Given the description of an element on the screen output the (x, y) to click on. 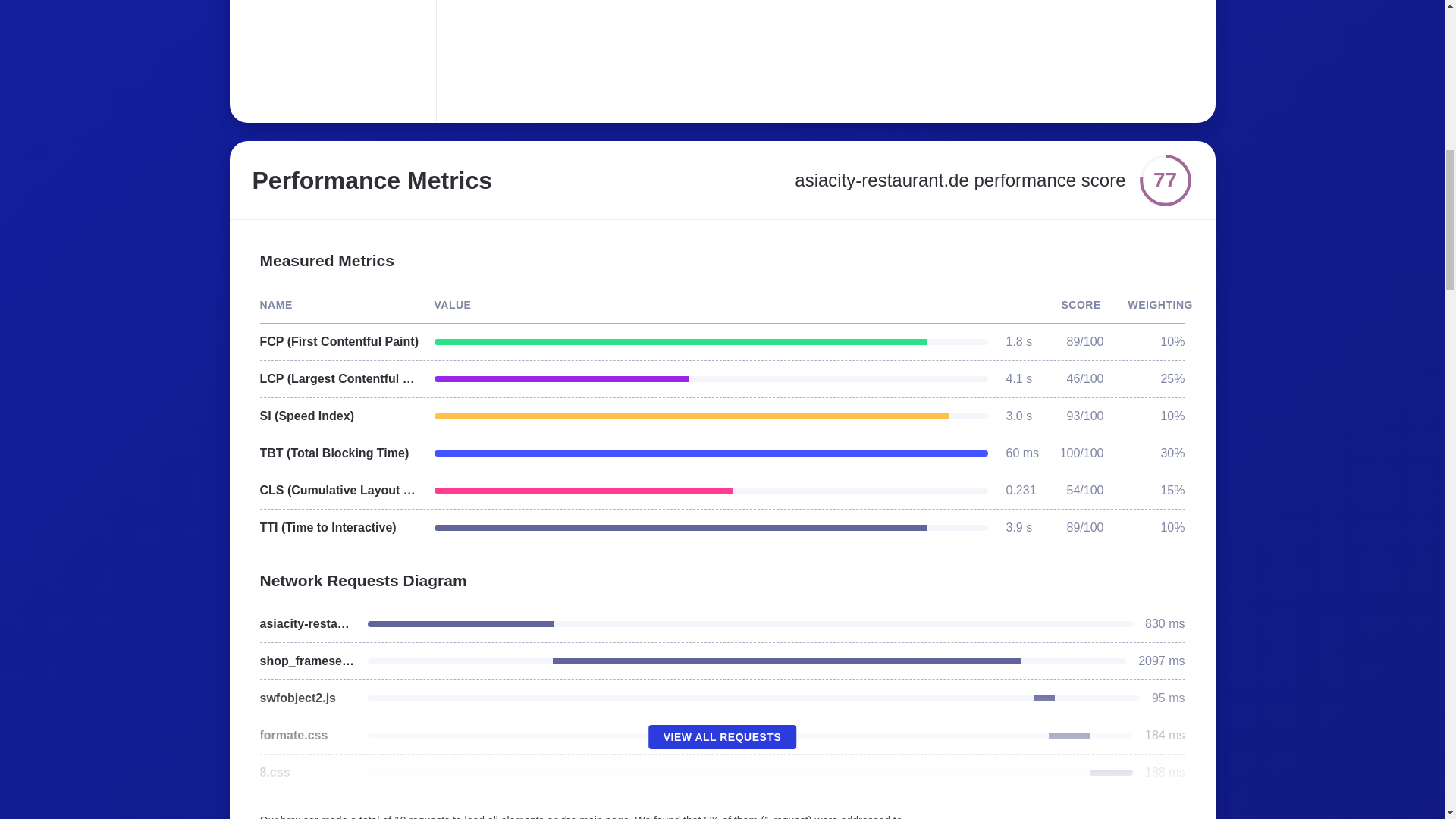
Advertisement (686, 52)
VIEW ALL REQUESTS (721, 736)
